Given the description of an element on the screen output the (x, y) to click on. 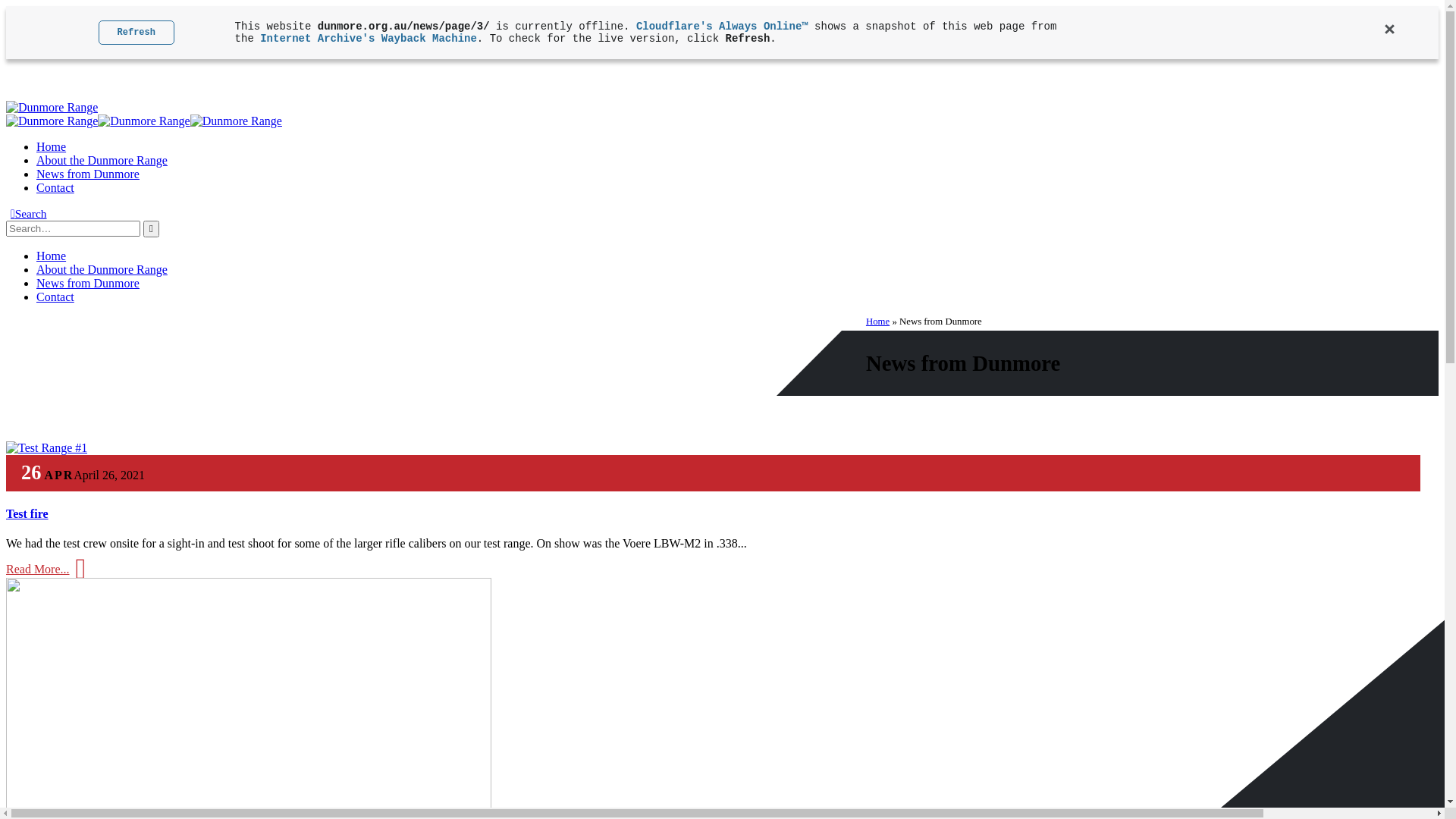
Dunmore Range - Dunmore Range Association Element type: hover (51, 106)
About the Dunmore Range Element type: text (101, 269)
Contact Element type: text (55, 296)
Search Element type: hover (151, 228)
News from Dunmore Element type: text (87, 173)
News from Dunmore Element type: text (87, 282)
Home Element type: text (877, 321)
Home Element type: text (50, 255)
Read More... Element type: text (46, 569)
Contact Element type: text (55, 187)
Search Element type: text (28, 213)
Internet Archive's Wayback Machine Element type: text (368, 38)
Test fire Element type: text (27, 513)
Refresh Element type: text (136, 32)
About the Dunmore Range Element type: text (101, 159)
Home Element type: text (50, 146)
Dunmore Range - Dunmore Range Association Element type: hover (144, 120)
